Given the description of an element on the screen output the (x, y) to click on. 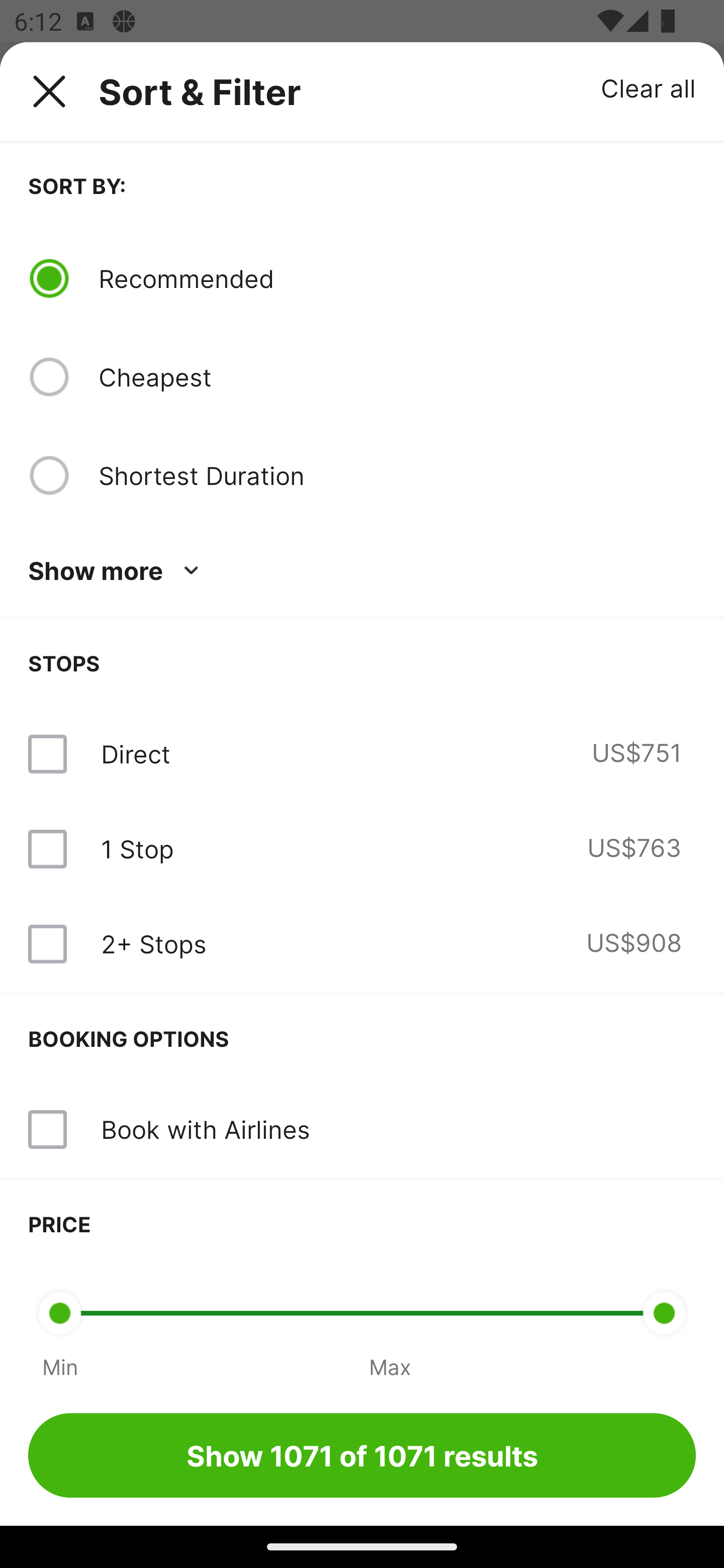
Clear all (648, 87)
Recommended  (396, 278)
Cheapest (396, 377)
Shortest Duration (396, 474)
Show more (116, 570)
Direct US$751 (362, 754)
Direct (135, 753)
1 Stop US$763 (362, 848)
1 Stop (136, 849)
2+ Stops US$908 (362, 943)
2+ Stops (153, 943)
Book with Airlines (362, 1129)
Book with Airlines (204, 1128)
Show 1071 of 1071 results (361, 1454)
